Given the description of an element on the screen output the (x, y) to click on. 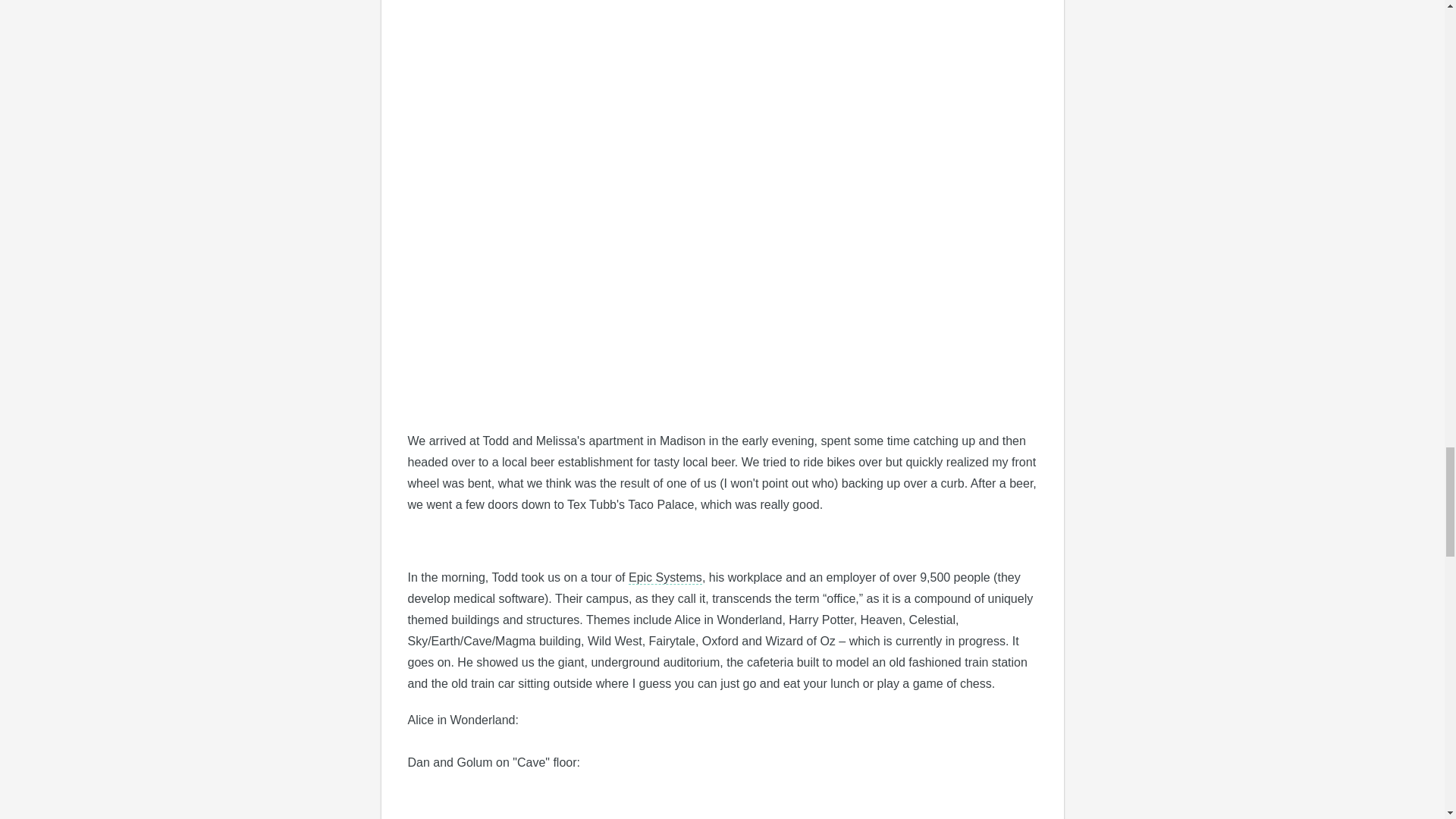
Epic Systems (664, 577)
